Given the description of an element on the screen output the (x, y) to click on. 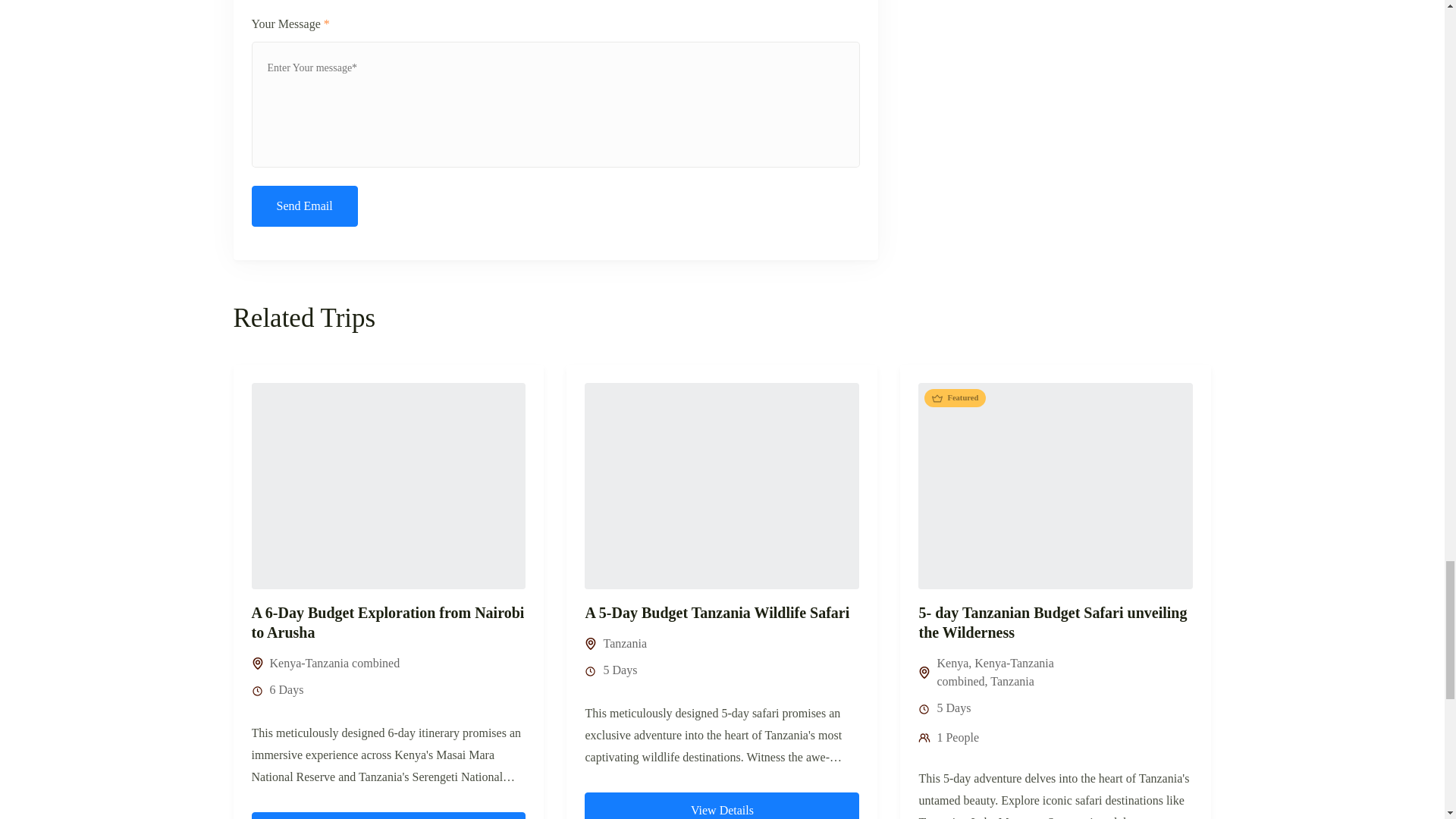
Send Email (304, 205)
